Given the description of an element on the screen output the (x, y) to click on. 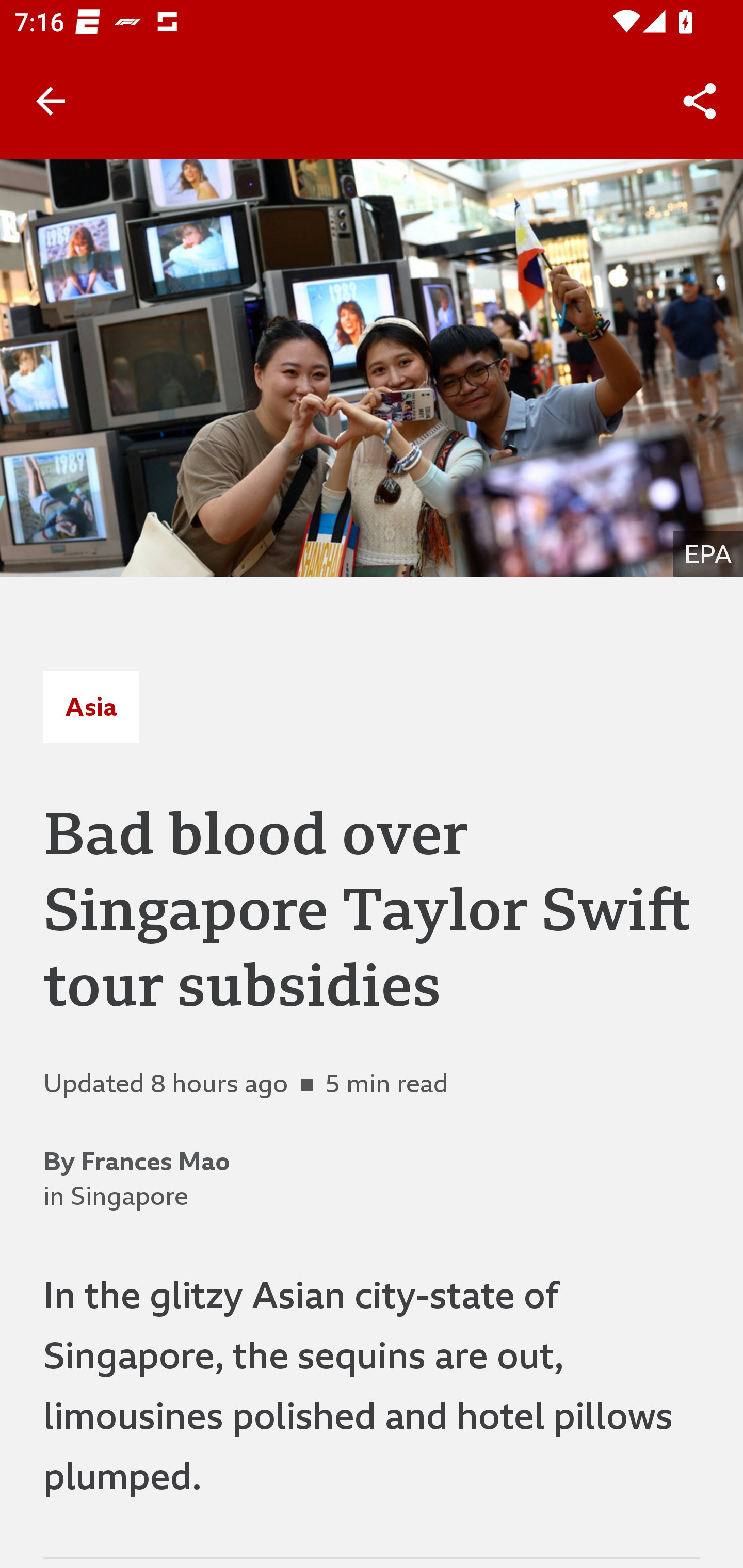
Back (50, 101)
Share (699, 101)
Asia (91, 706)
